Given the description of an element on the screen output the (x, y) to click on. 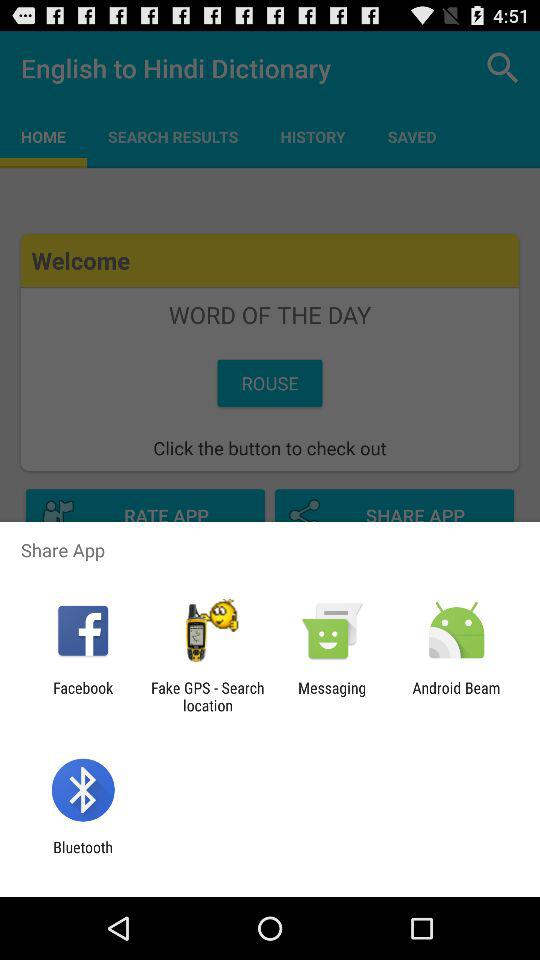
jump to the messaging item (332, 696)
